Given the description of an element on the screen output the (x, y) to click on. 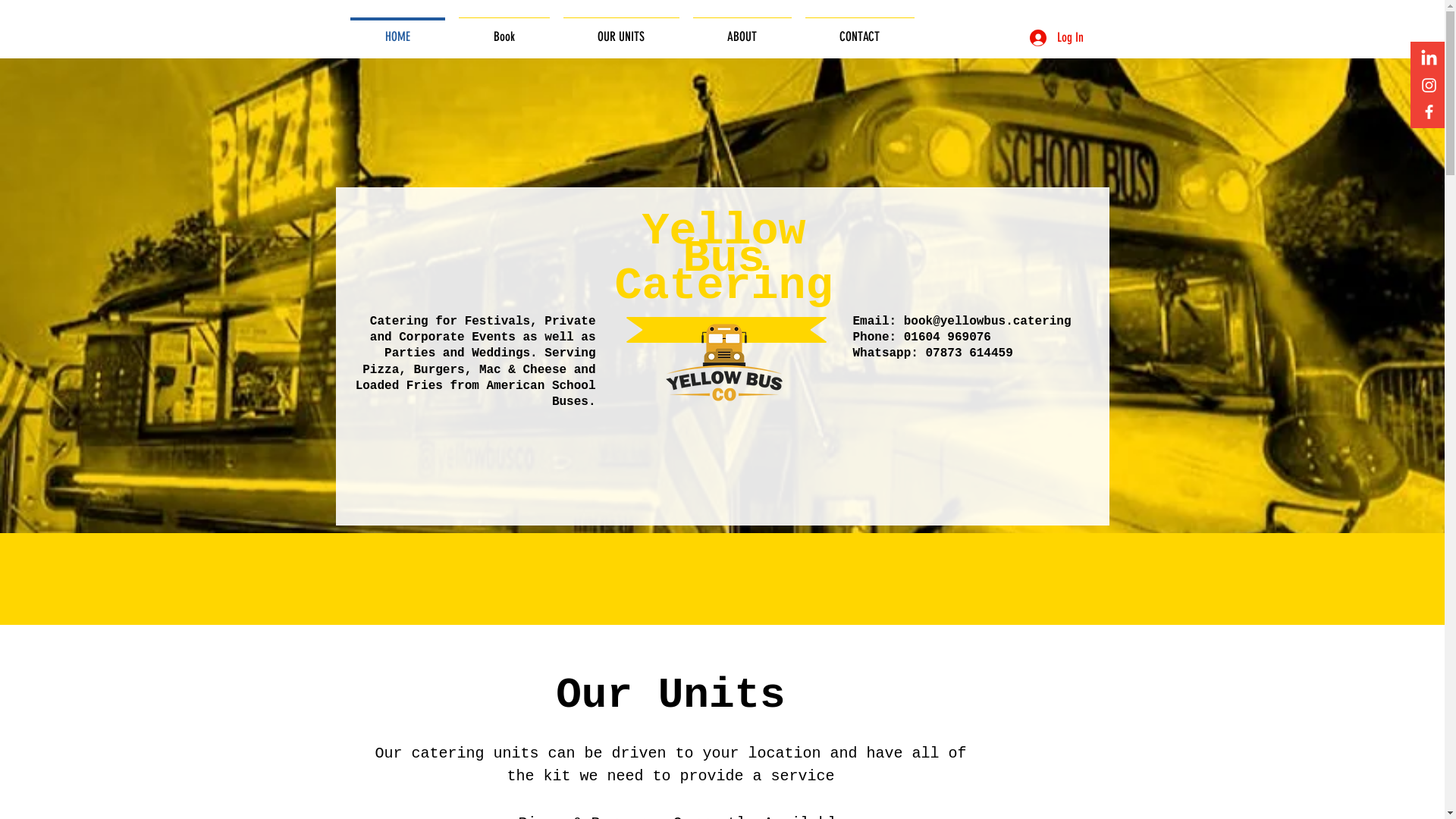
Log In Element type: text (1056, 37)
ABOUT Element type: text (741, 29)
CONTACT Element type: text (858, 29)
Book Element type: text (503, 29)
HOME Element type: text (396, 29)
book@yellowbus.catering Element type: text (987, 321)
Yellow Bus Catering Element type: text (723, 258)
OUR UNITS Element type: text (621, 29)
